Given the description of an element on the screen output the (x, y) to click on. 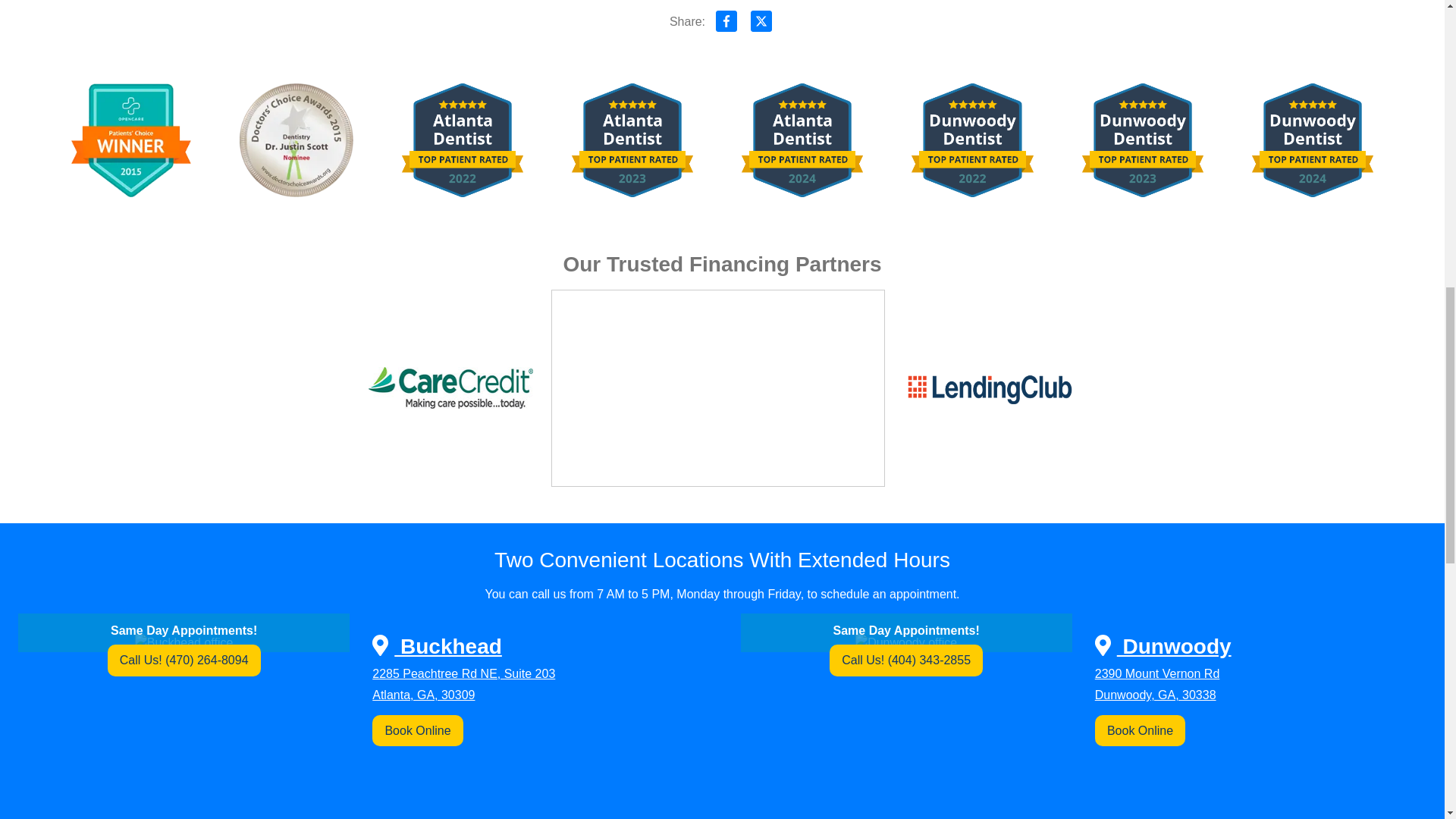
Buckhead Google Map (360, 792)
Dunwoody Google Map (1082, 792)
